Given the description of an element on the screen output the (x, y) to click on. 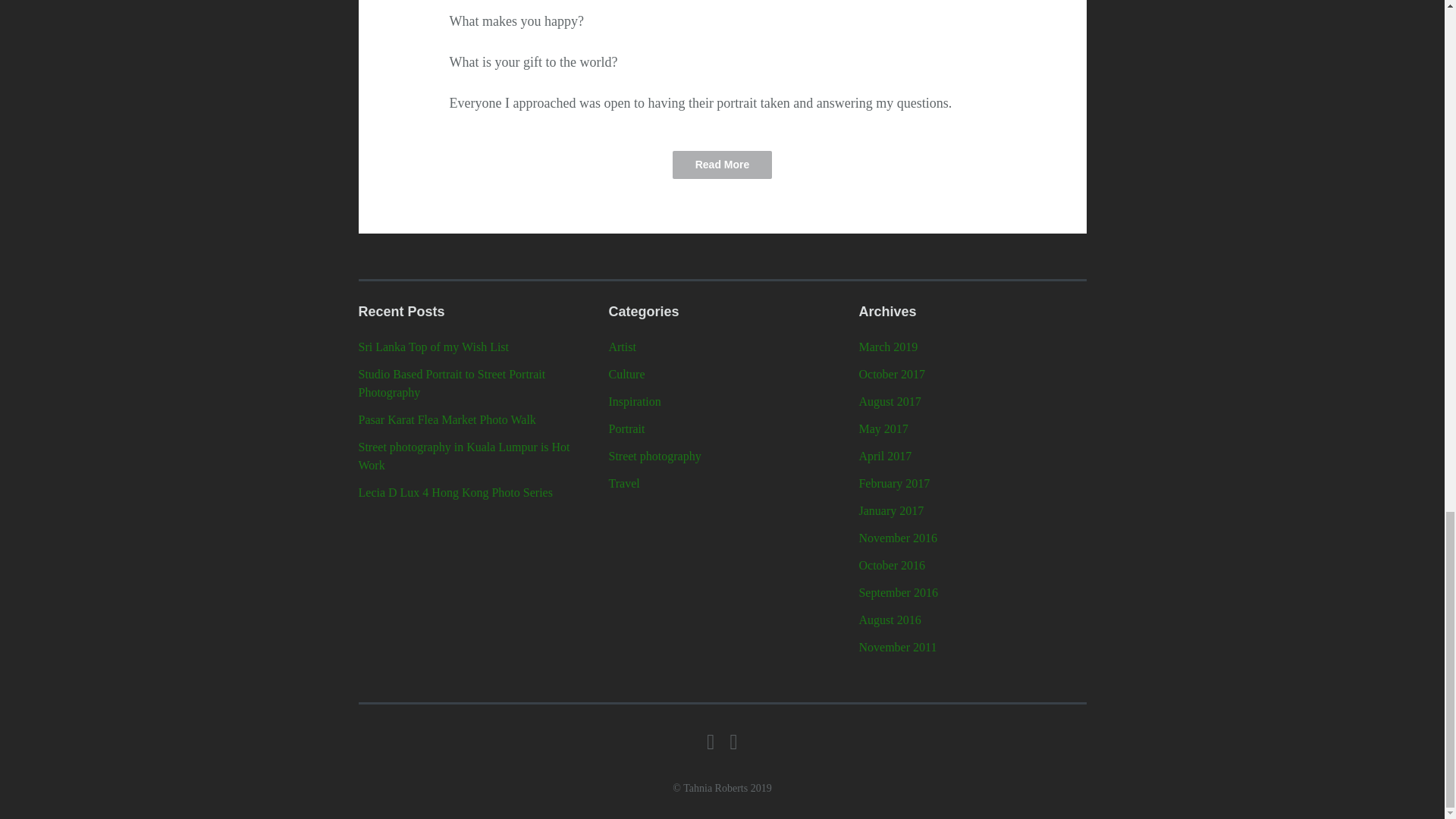
May 2017 (883, 428)
January 2017 (891, 510)
October 2016 (891, 564)
Read More (722, 164)
Sri Lanka Top of my Wish List (433, 346)
September 2016 (898, 592)
Lecia D Lux 4 Hong Kong Photo Series (454, 492)
April 2017 (885, 455)
November 2011 (897, 646)
Studio Based Portrait to Street Portrait Photography (451, 382)
